Given the description of an element on the screen output the (x, y) to click on. 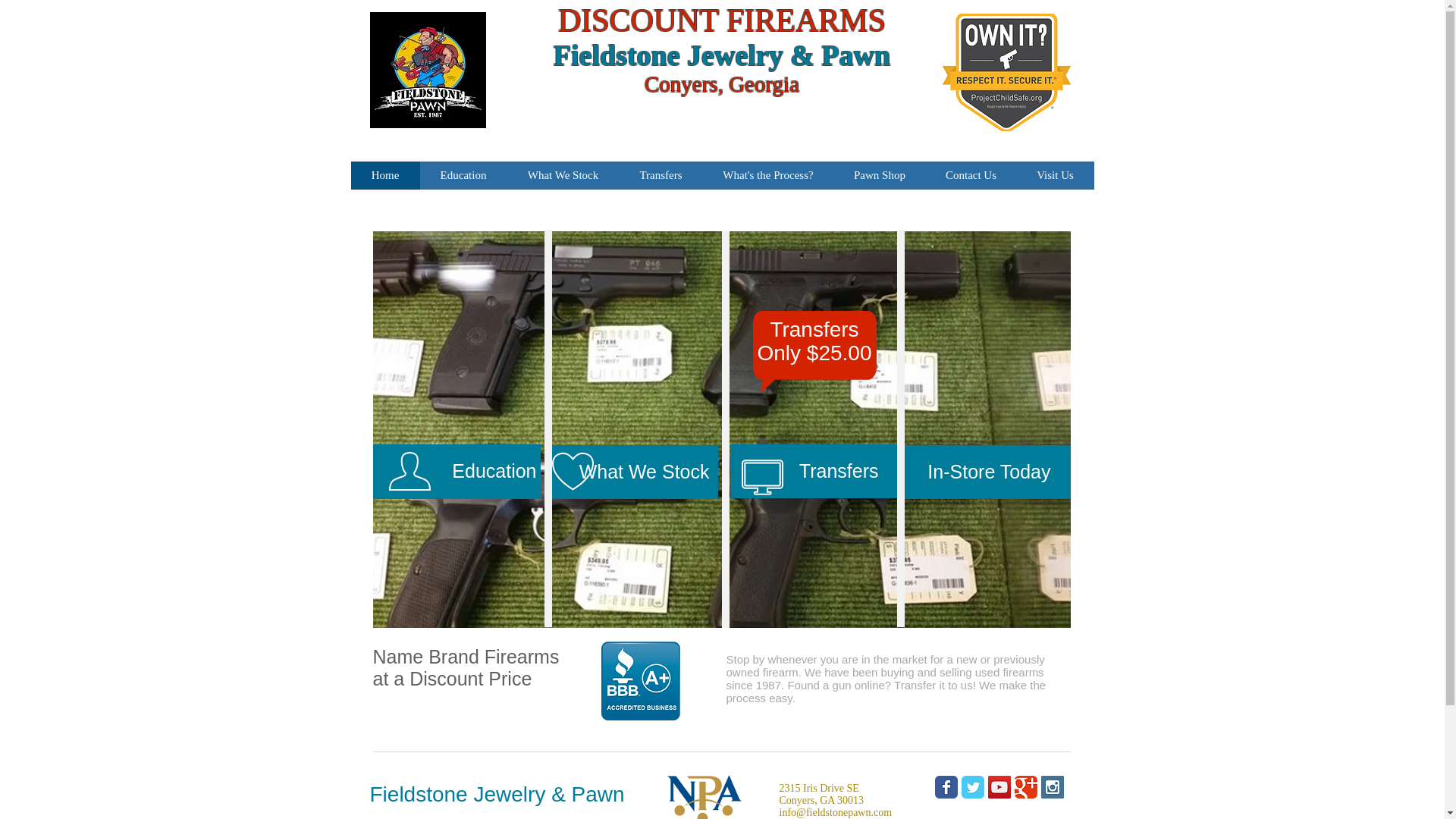
What We Stock (562, 175)
Home (384, 175)
What's the Process? (766, 175)
NPALogo.png (705, 797)
What We Stock (632, 471)
Contact Us (970, 175)
Transfers (812, 470)
Transfers (659, 175)
Education (456, 471)
